Given the description of an element on the screen output the (x, y) to click on. 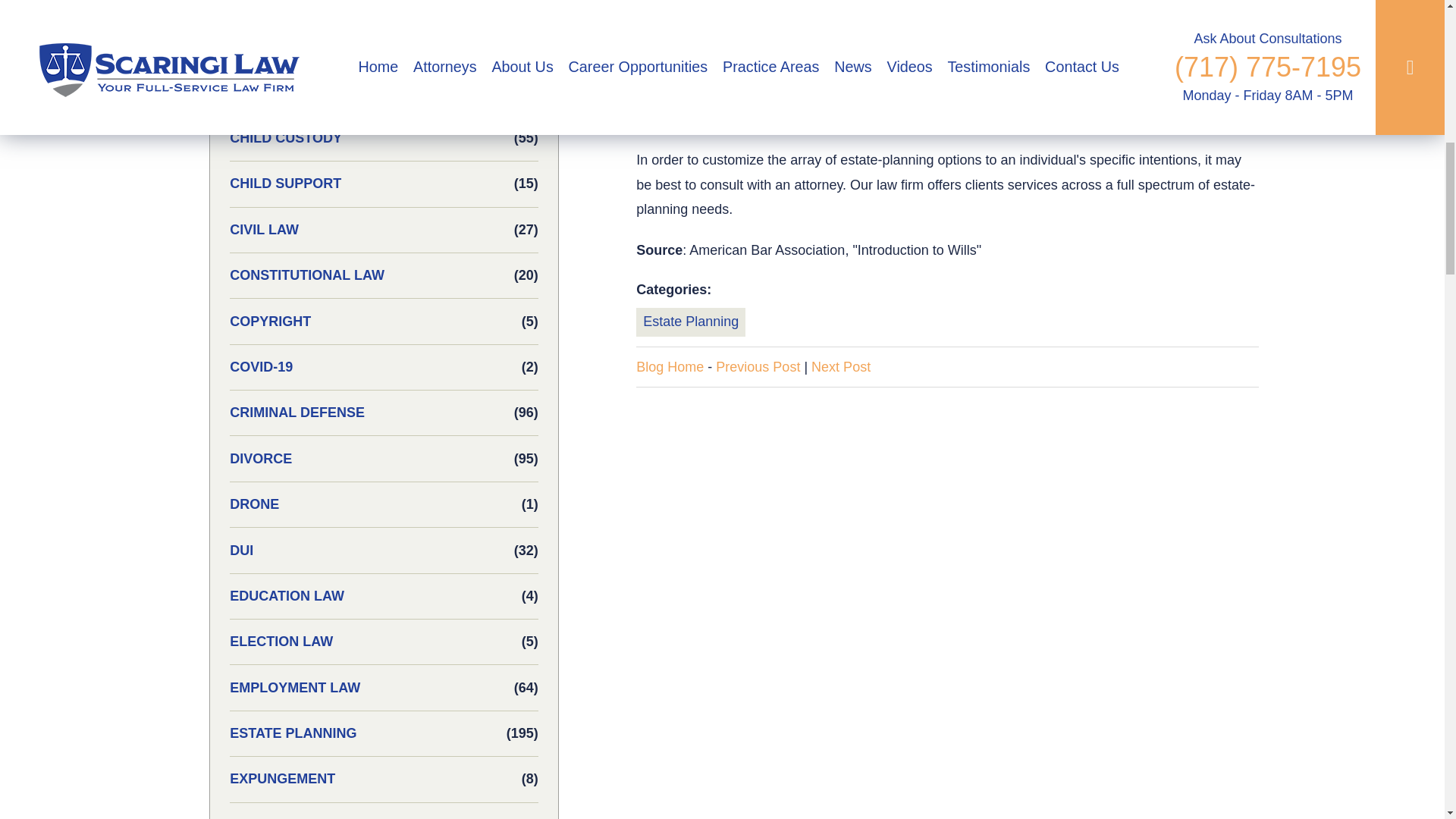
2015 shapes up as tough year for PLCB license renewals (757, 366)
Tax tips for effective estate administration (840, 366)
